Given the description of an element on the screen output the (x, y) to click on. 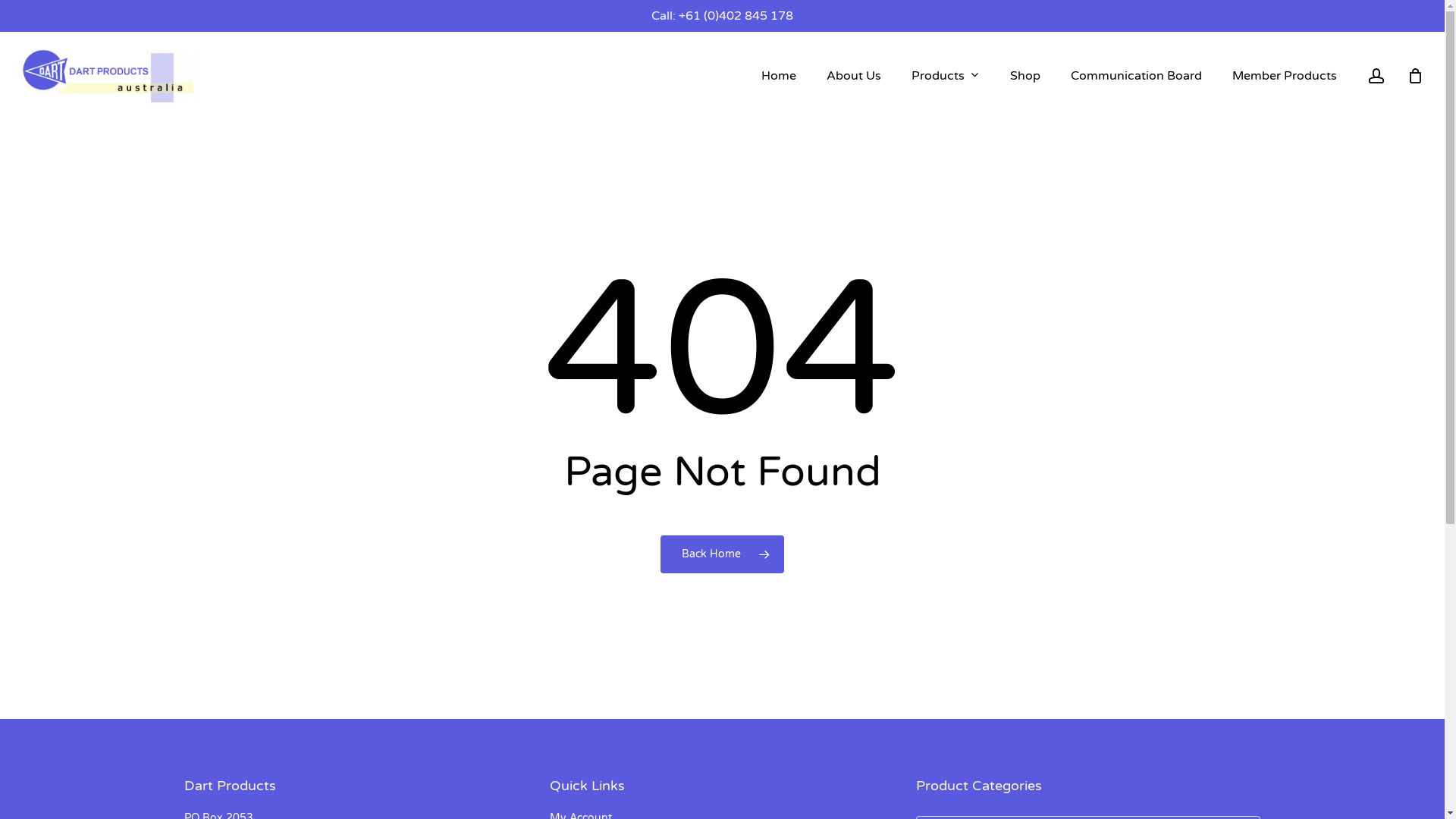
Home Element type: text (778, 75)
account Element type: text (1376, 76)
Back Home Element type: text (722, 554)
Products Element type: text (945, 75)
Communication Board Element type: text (1135, 75)
About Us Element type: text (853, 75)
Member Products Element type: text (1284, 75)
Shop Element type: text (1025, 75)
